Given the description of an element on the screen output the (x, y) to click on. 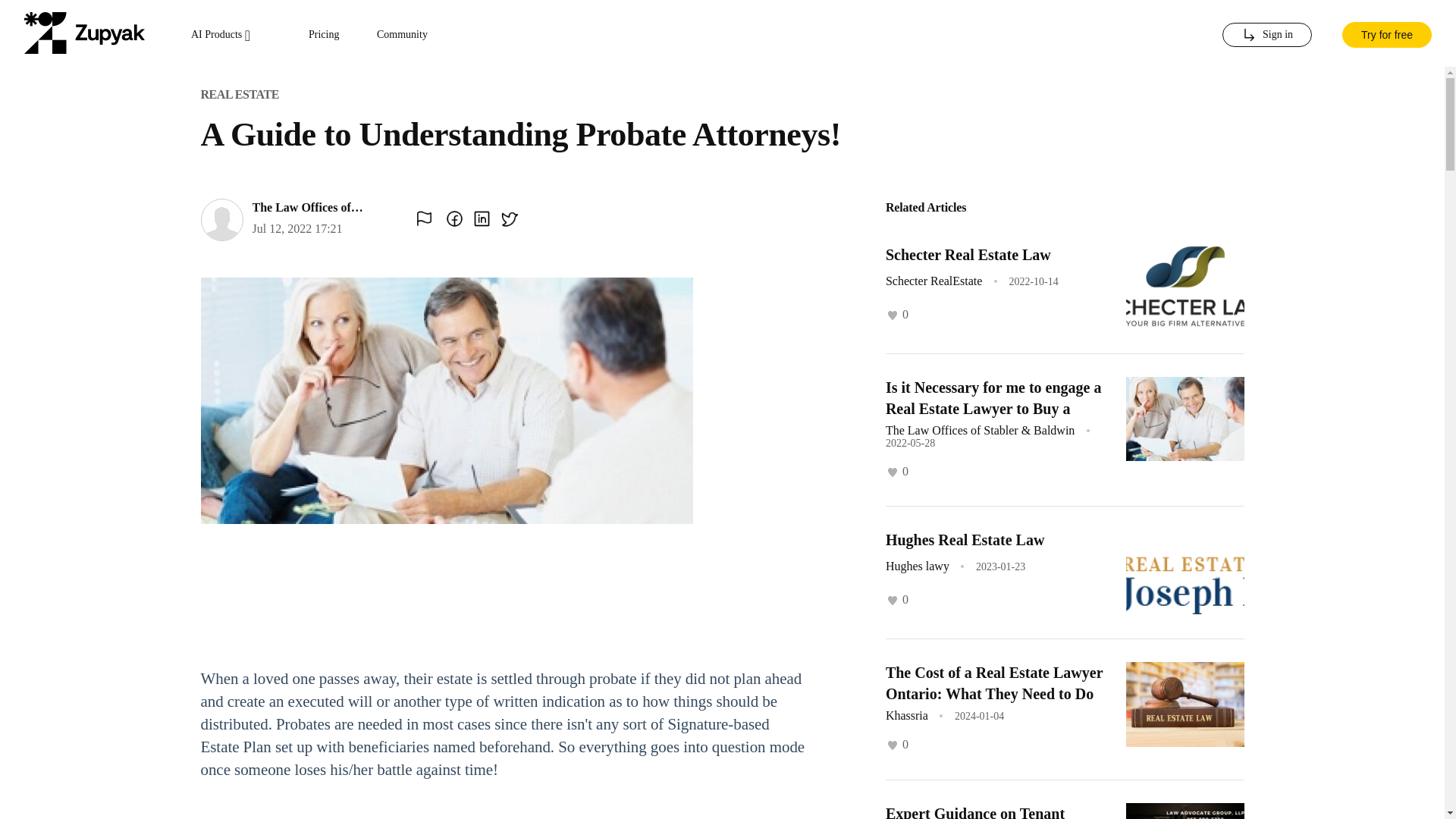
Schecter Real Estate Law (968, 254)
Community (402, 34)
REAL ESTATE (239, 93)
Expert Guidance on Tenant Rights: A Lawyer in Los Angeles (990, 812)
Hughes Real Estate Law (964, 539)
Pricing (323, 34)
 Sign in (1267, 34)
Try for free (1386, 33)
